Given the description of an element on the screen output the (x, y) to click on. 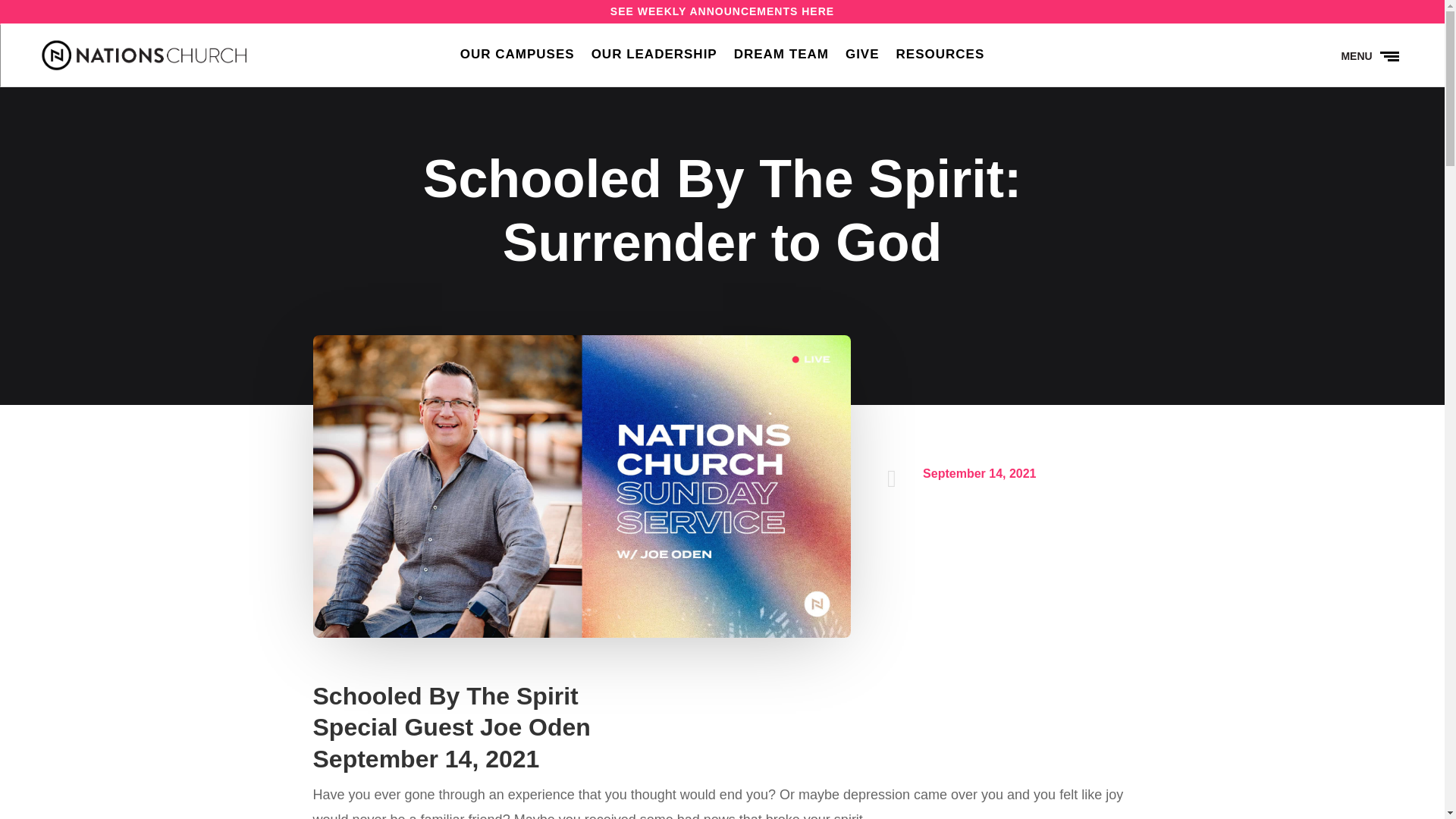
OUR LEADERSHIP (654, 57)
DREAM TEAM (780, 57)
RESOURCES (940, 57)
GIVE (862, 57)
OUR CAMPUSES (517, 57)
SEE WEEKLY ANNOUNCEMENTS HERE (722, 10)
